Given the description of an element on the screen output the (x, y) to click on. 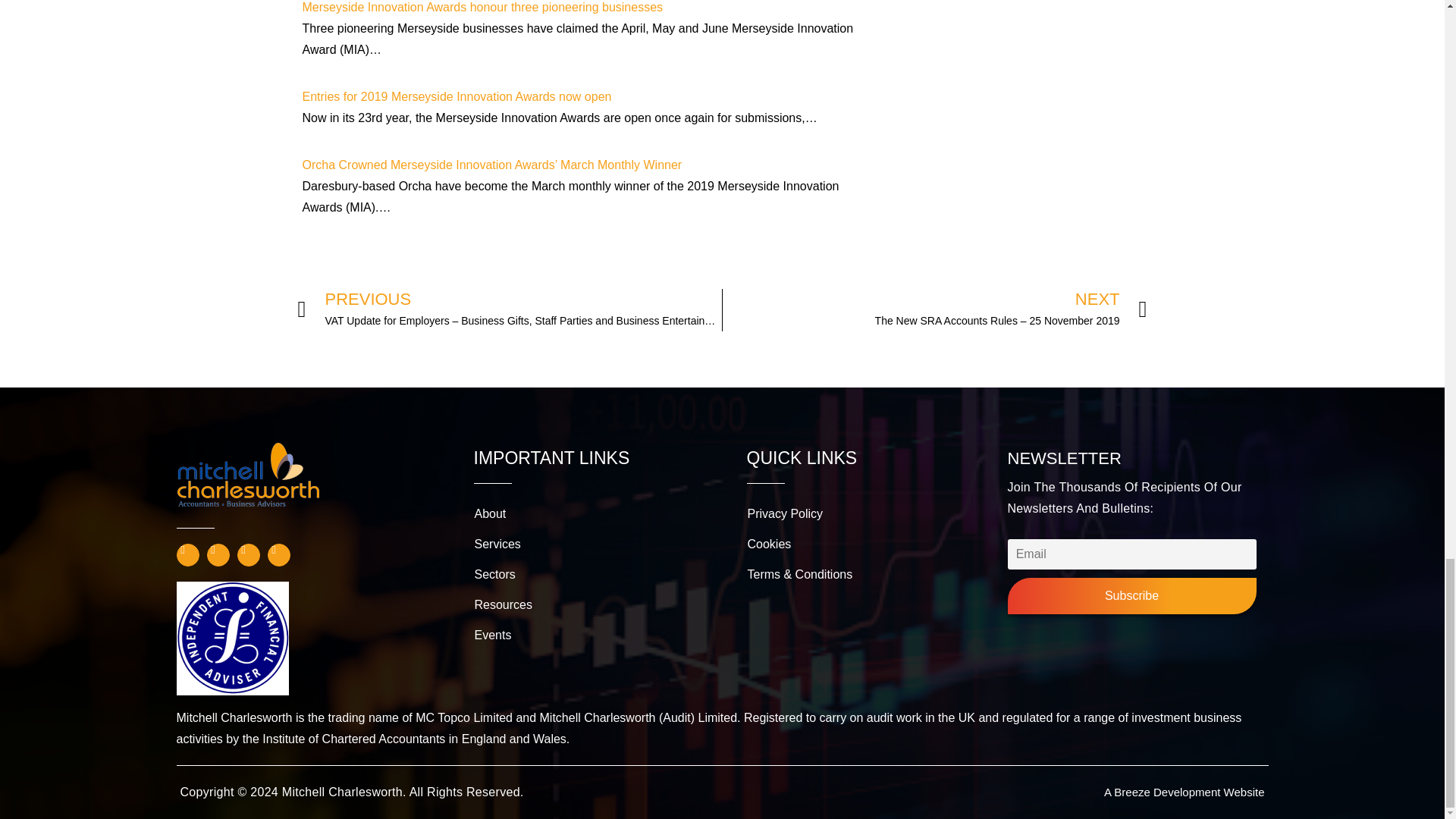
Subscribe (1131, 596)
